Given the description of an element on the screen output the (x, y) to click on. 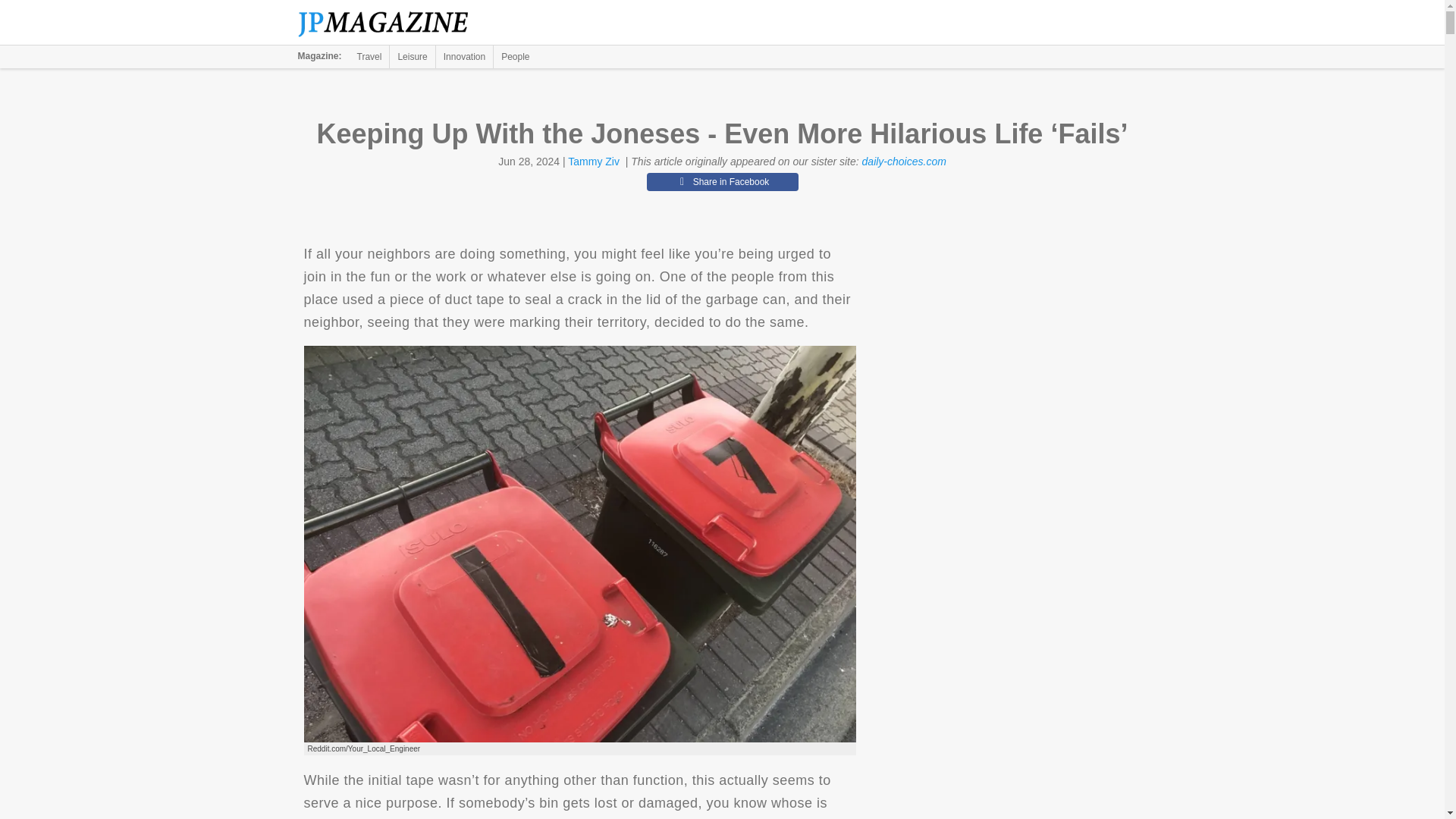
Tammy Ziv (593, 161)
Travel (369, 56)
Leisure (411, 56)
daily-choices.com (903, 161)
Innovation (464, 56)
The Jerusalem Post Magazine (391, 22)
Share in Facebook (721, 181)
People (515, 56)
